Given the description of an element on the screen output the (x, y) to click on. 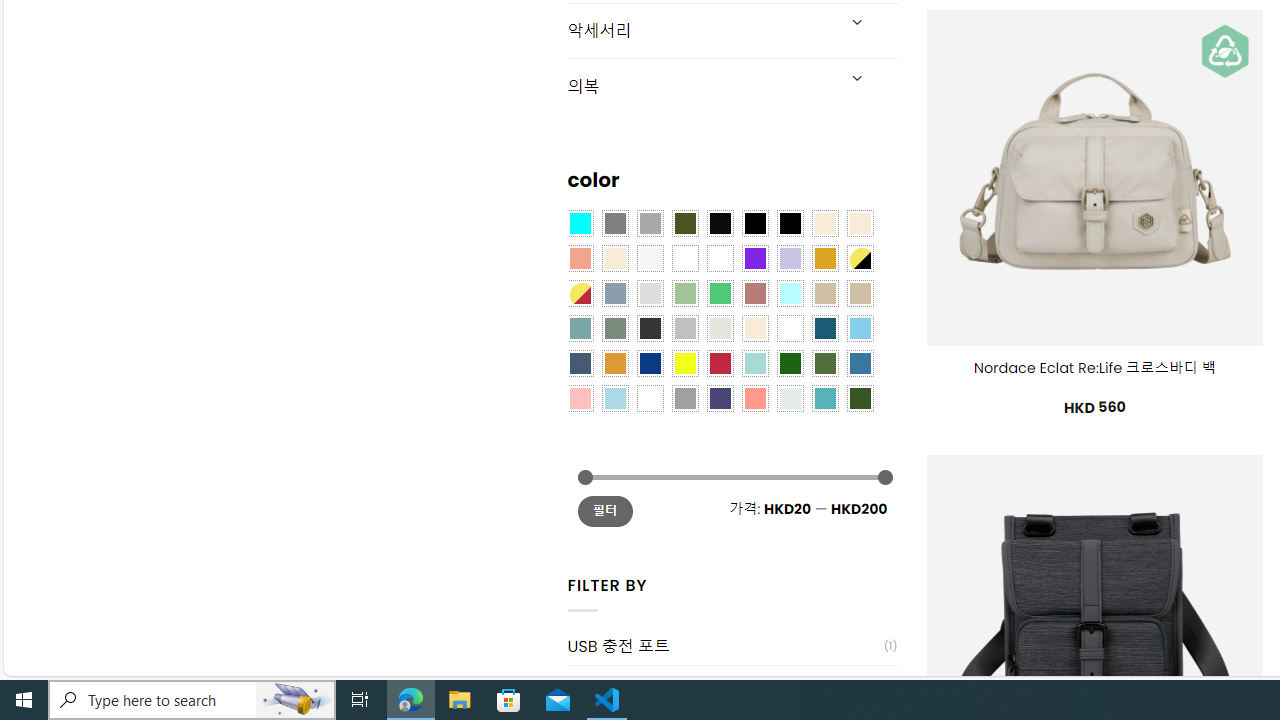
Dull Nickle (789, 398)
